Given the description of an element on the screen output the (x, y) to click on. 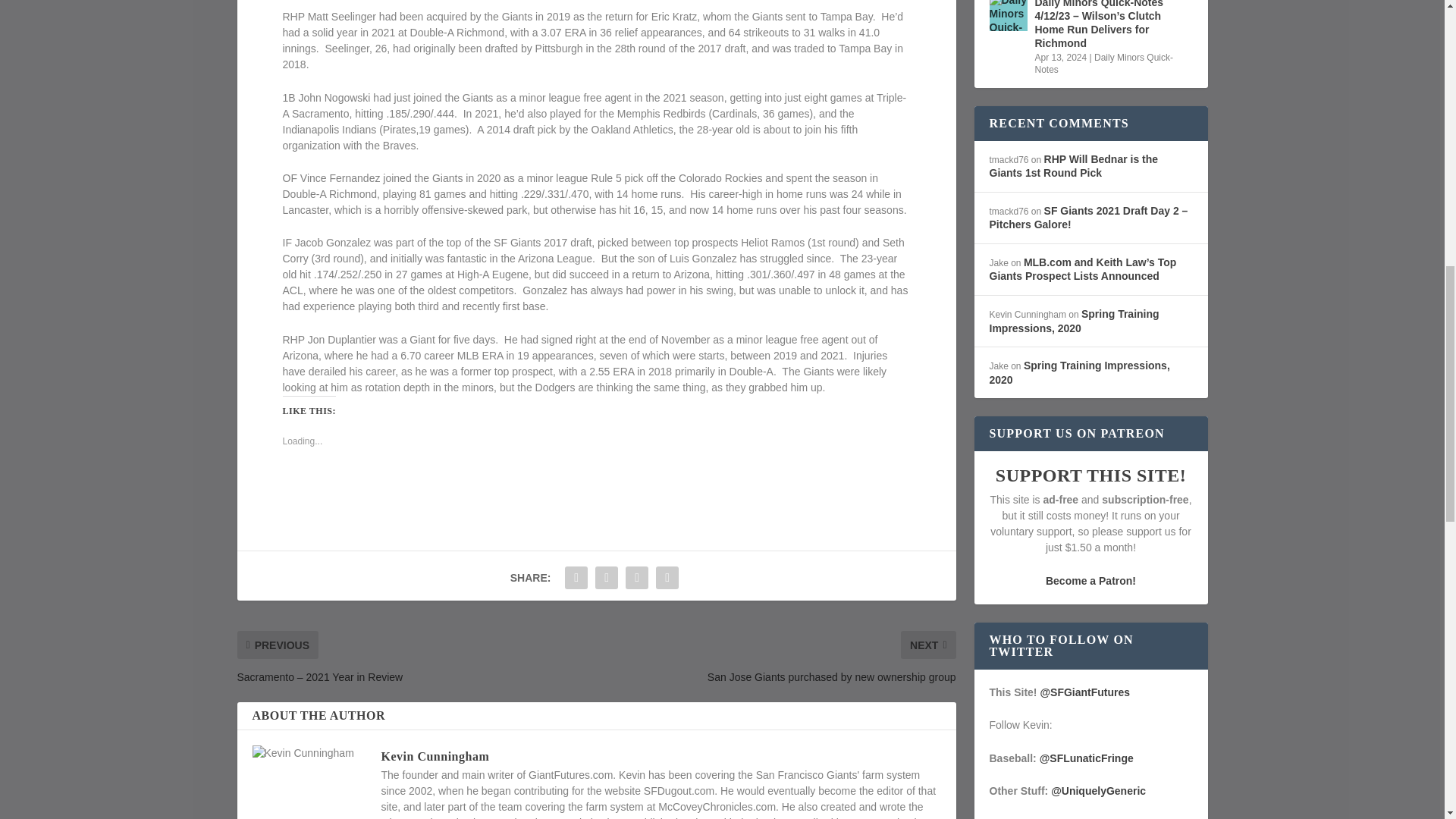
View all posts by Kevin Cunningham (434, 756)
Kevin Cunningham (434, 756)
